Given the description of an element on the screen output the (x, y) to click on. 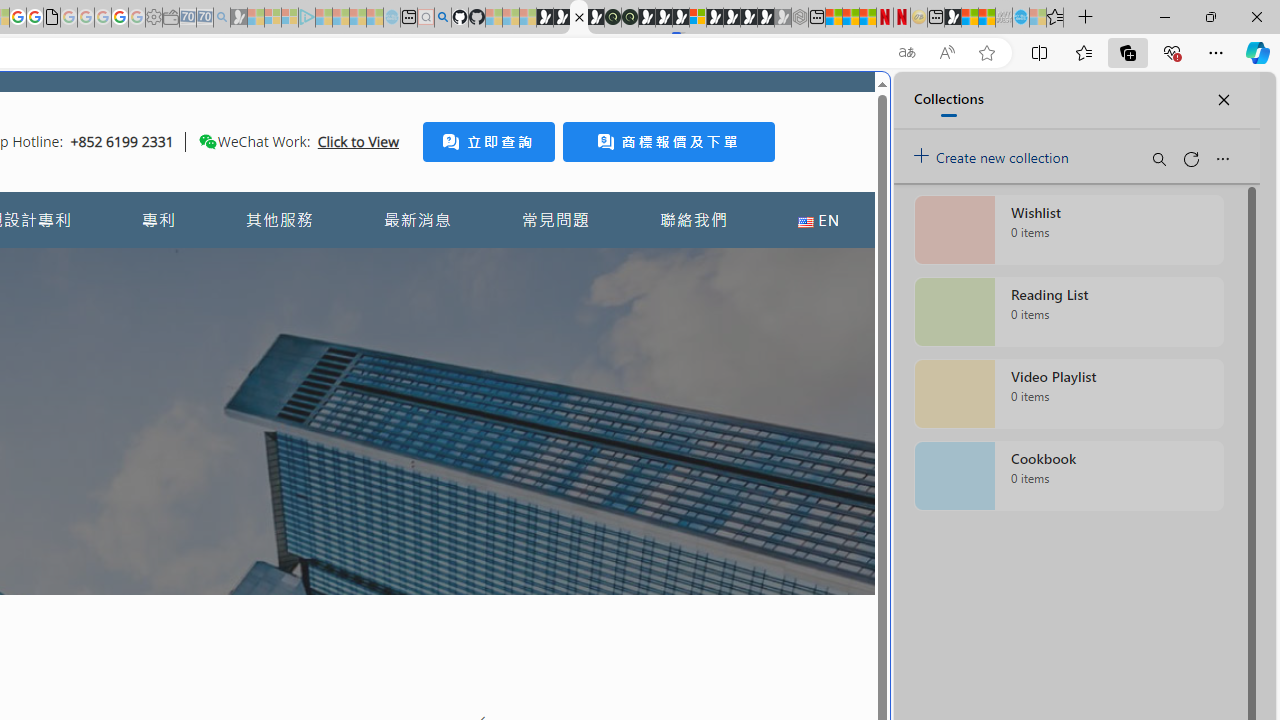
Close split screen (844, 102)
Cheap Car Rentals - Save70.com - Sleeping (204, 17)
Play Zoo Boom in your browser | Games from Microsoft Start (561, 17)
Play Cave FRVR in your browser | Games from Microsoft Start (343, 426)
